Given the description of an element on the screen output the (x, y) to click on. 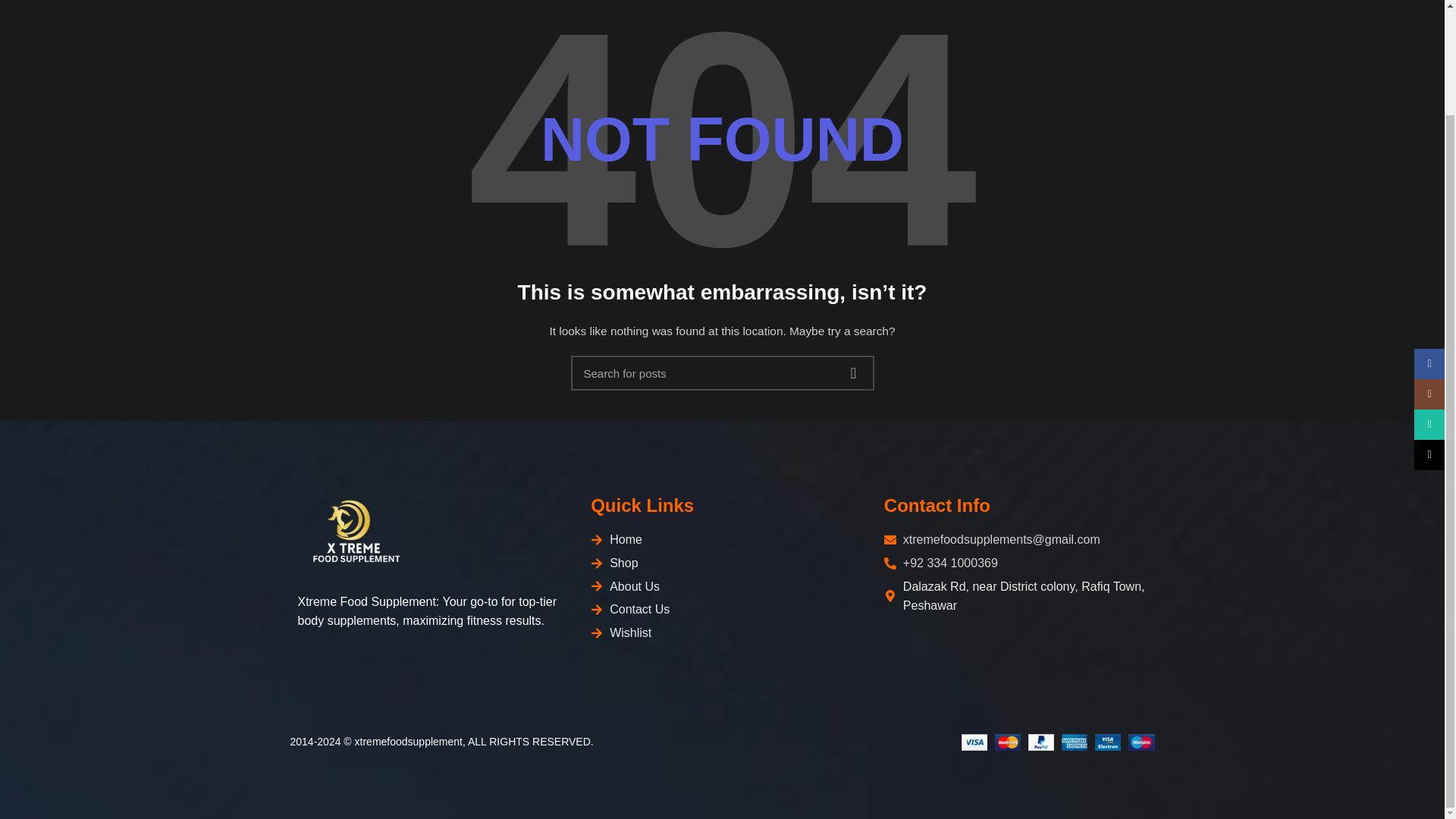
Wishlist (722, 632)
Peshawar, Pakistan (1015, 670)
SEARCH (853, 372)
About Us (722, 587)
Dalazak Rd, near District colony, Rafiq Town, Peshawar (1015, 596)
Contact Us (722, 609)
Home (722, 539)
Shop (722, 563)
Search for posts (721, 372)
